Given the description of an element on the screen output the (x, y) to click on. 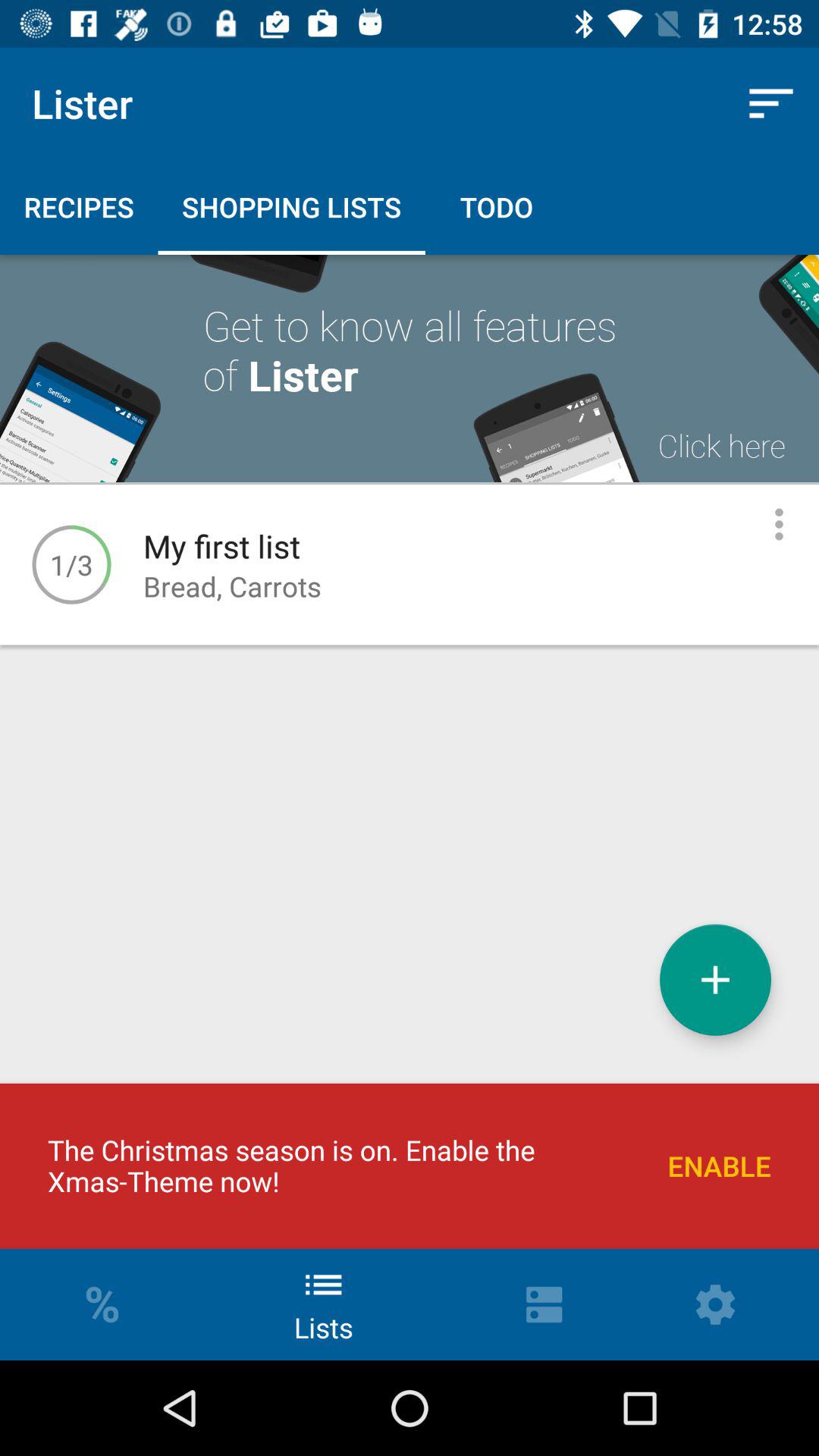
drop down menu of options (779, 524)
